Given the description of an element on the screen output the (x, y) to click on. 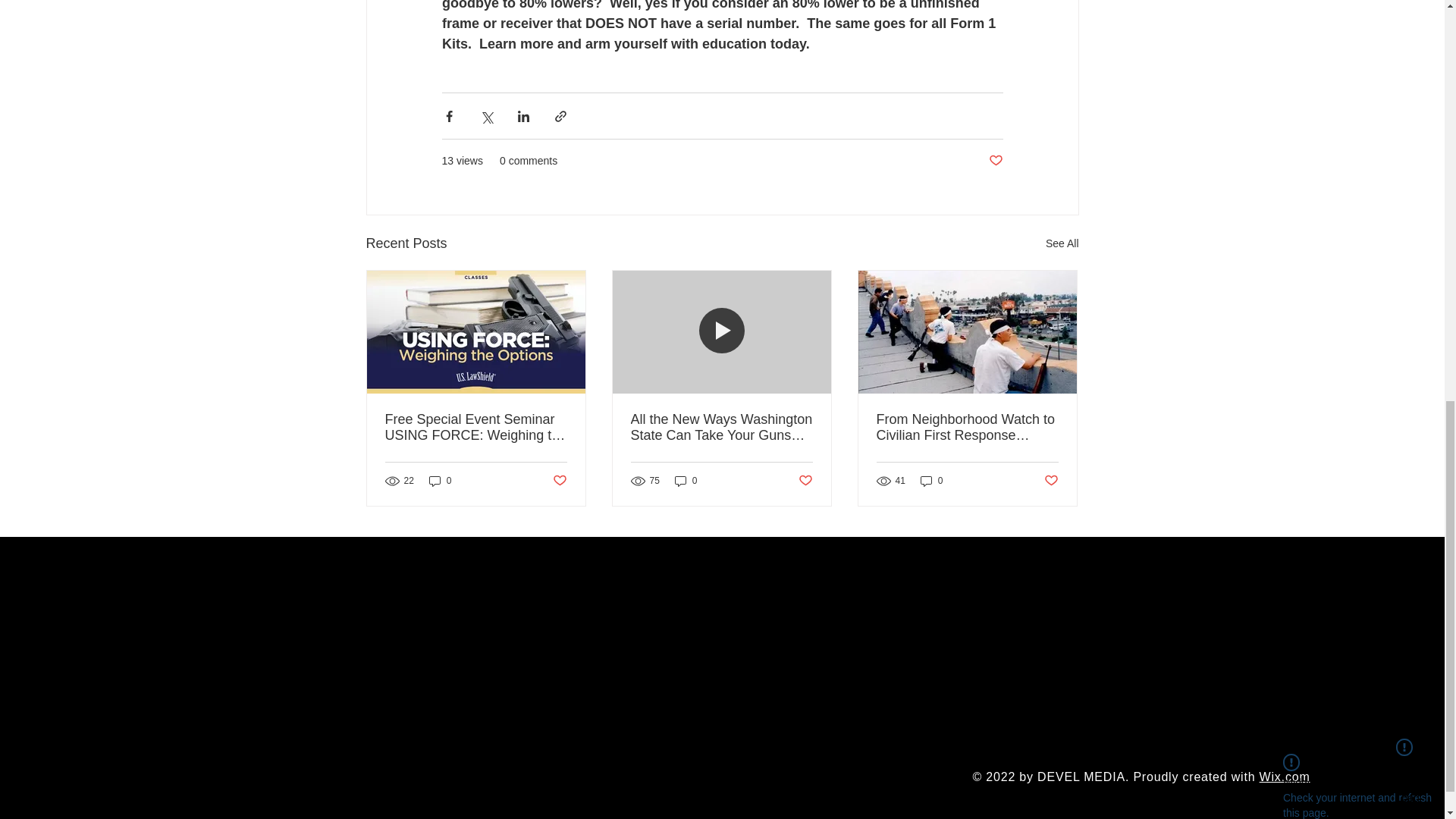
0 (931, 481)
See All (1061, 243)
Post not marked as liked (558, 480)
Free Special Event Seminar USING FORCE: Weighing the Options (476, 427)
Post not marked as liked (804, 480)
0 (440, 481)
Wix.com (1284, 776)
Post not marked as liked (995, 160)
0 (685, 481)
Post not marked as liked (1050, 480)
